Given the description of an element on the screen output the (x, y) to click on. 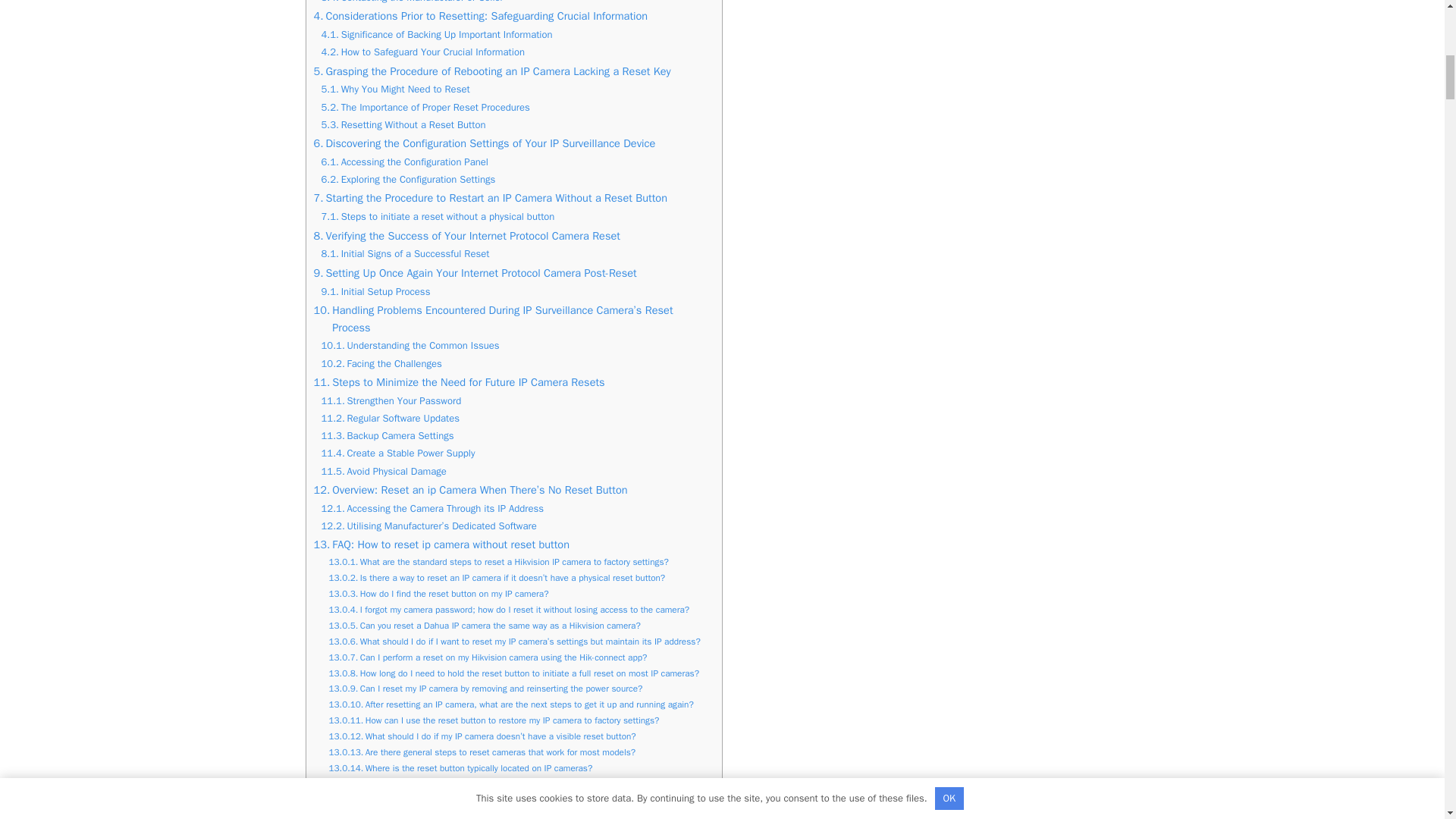
Significance of Backing Up Important Information (437, 35)
Accessing the Configuration Panel (404, 162)
How to Safeguard Your Crucial Information (423, 52)
Initial Setup Process (375, 292)
Contacting the Manufacturer or Seller (412, 2)
Initial Signs of a Successful Reset (405, 254)
Contacting the Manufacturer or Seller (412, 2)
Resetting Without a Reset Button (403, 125)
